Given the description of an element on the screen output the (x, y) to click on. 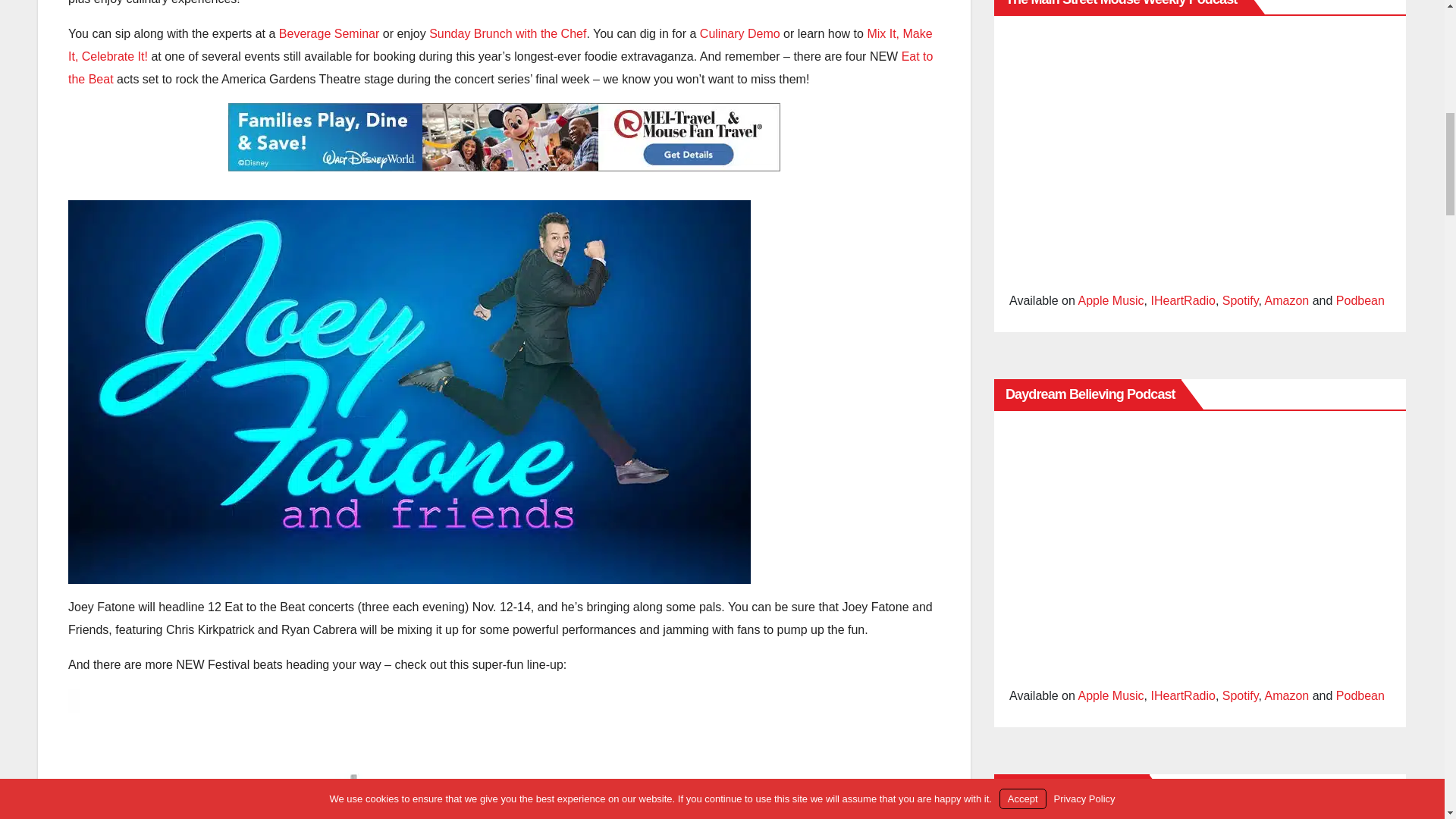
Culinary Demo (740, 33)
Sunday Brunch with the Chef (507, 33)
Beverage Seminar (329, 33)
Mix It, Make It, Celebrate It! (500, 45)
